Given the description of an element on the screen output the (x, y) to click on. 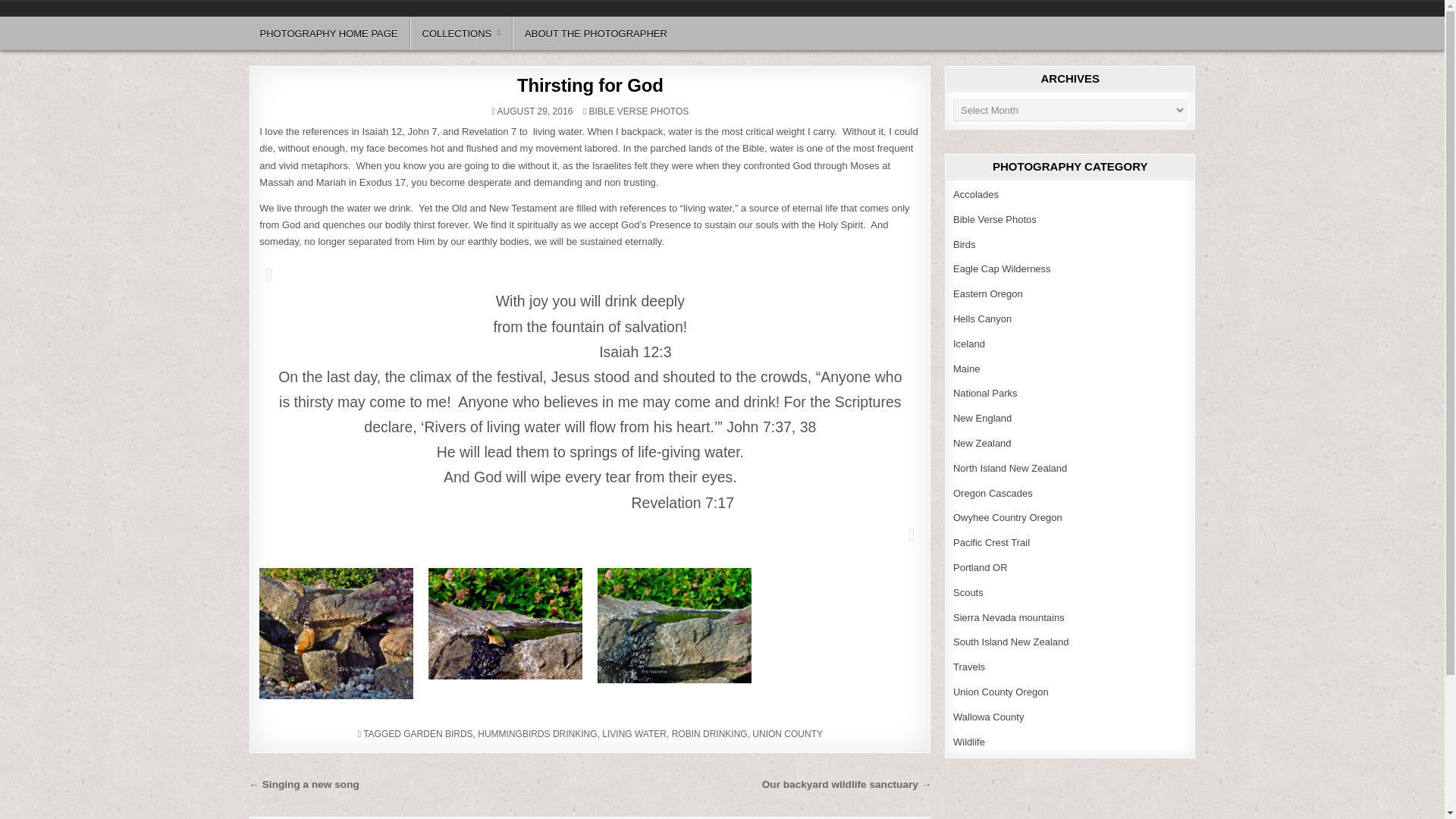
Iceland (969, 343)
BIBLE VERSE PHOTOS (638, 111)
Eastern Oregon (988, 293)
HUMMINGBIRDS DRINKING (536, 733)
UNION COUNTY (787, 733)
PHOTOGRAPHY HOME PAGE (329, 33)
Eagle Cap Wilderness (1002, 268)
LIVING WATER (634, 733)
ABOUT THE PHOTOGRAPHER (595, 33)
GARDEN BIRDS (437, 733)
PRAISE PHOTOGRAPHY (354, 17)
Hells Canyon (982, 318)
COLLECTIONS (461, 33)
Thirsting for God (589, 85)
ROBIN DRINKING (709, 733)
